Given the description of an element on the screen output the (x, y) to click on. 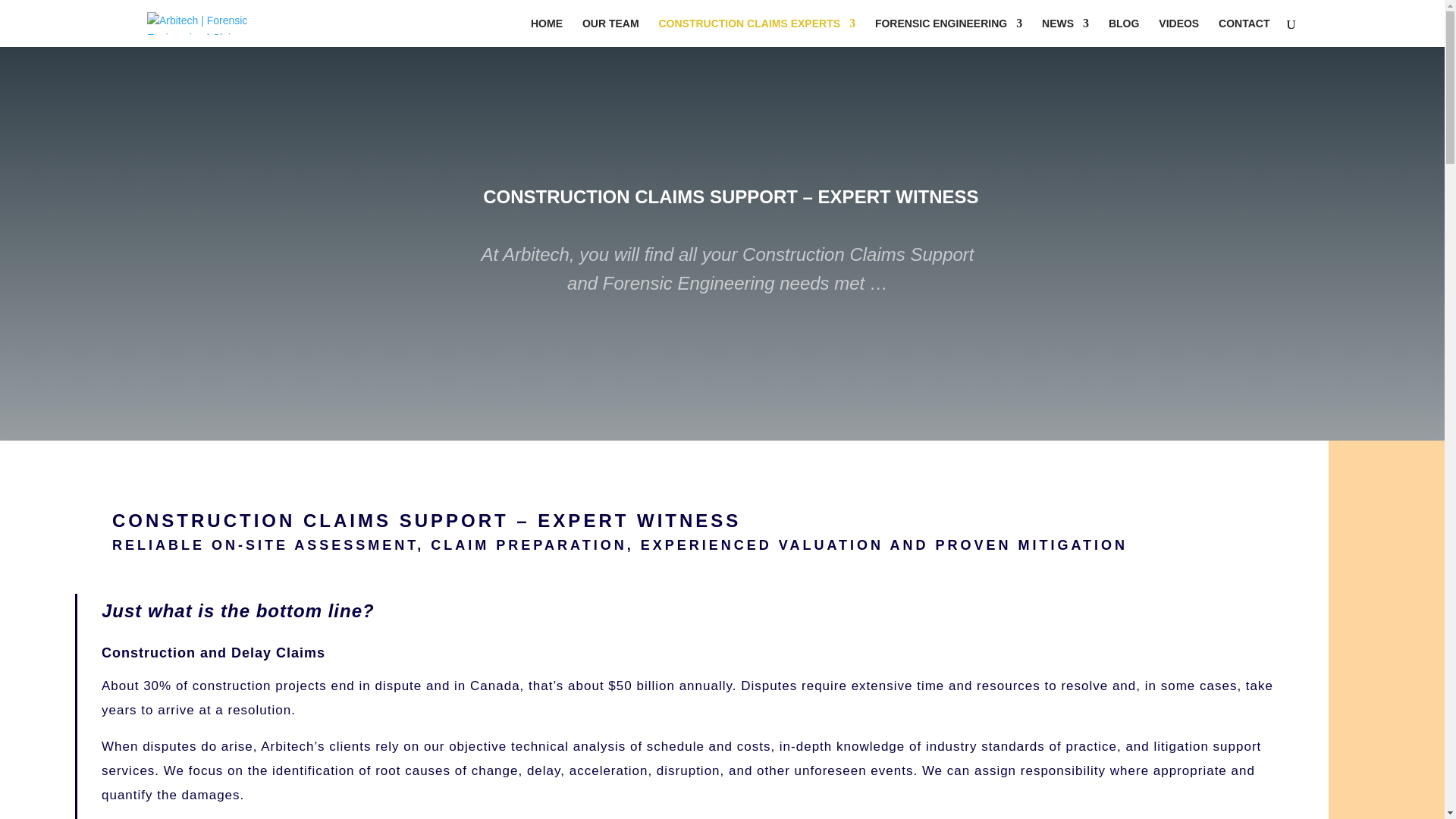
FORENSIC ENGINEERING Element type: text (948, 32)
CONSTRUCTION CLAIMS EXPERTS Element type: text (756, 32)
OUR TEAM Element type: text (610, 32)
NEWS Element type: text (1064, 32)
BLOG Element type: text (1123, 32)
VIDEOS Element type: text (1178, 32)
HOME Element type: text (546, 32)
CONTACT Element type: text (1243, 32)
